Given the description of an element on the screen output the (x, y) to click on. 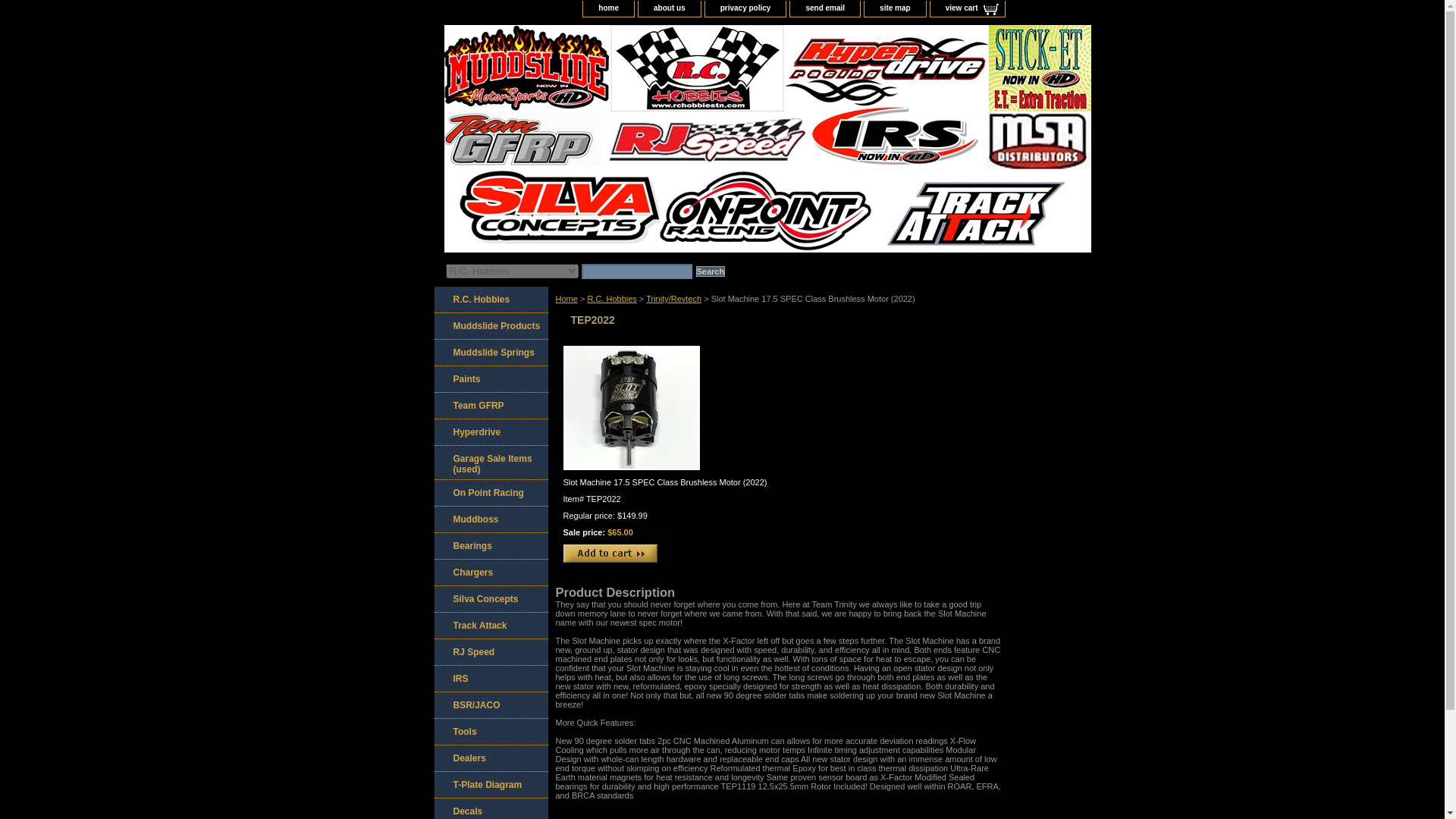
RJ Speed (490, 652)
home (608, 8)
R.C. Hobbies (611, 298)
Muddslide Products (490, 325)
T-Plate Diagram (490, 785)
Bearings (490, 546)
Add to cart (609, 553)
Paints (490, 379)
R.C. Hobbies (490, 299)
IRS (490, 678)
Muddslide Springs (490, 352)
Chargers (490, 572)
Tools (490, 732)
IRS (490, 678)
Muddslide Products (490, 325)
